Given the description of an element on the screen output the (x, y) to click on. 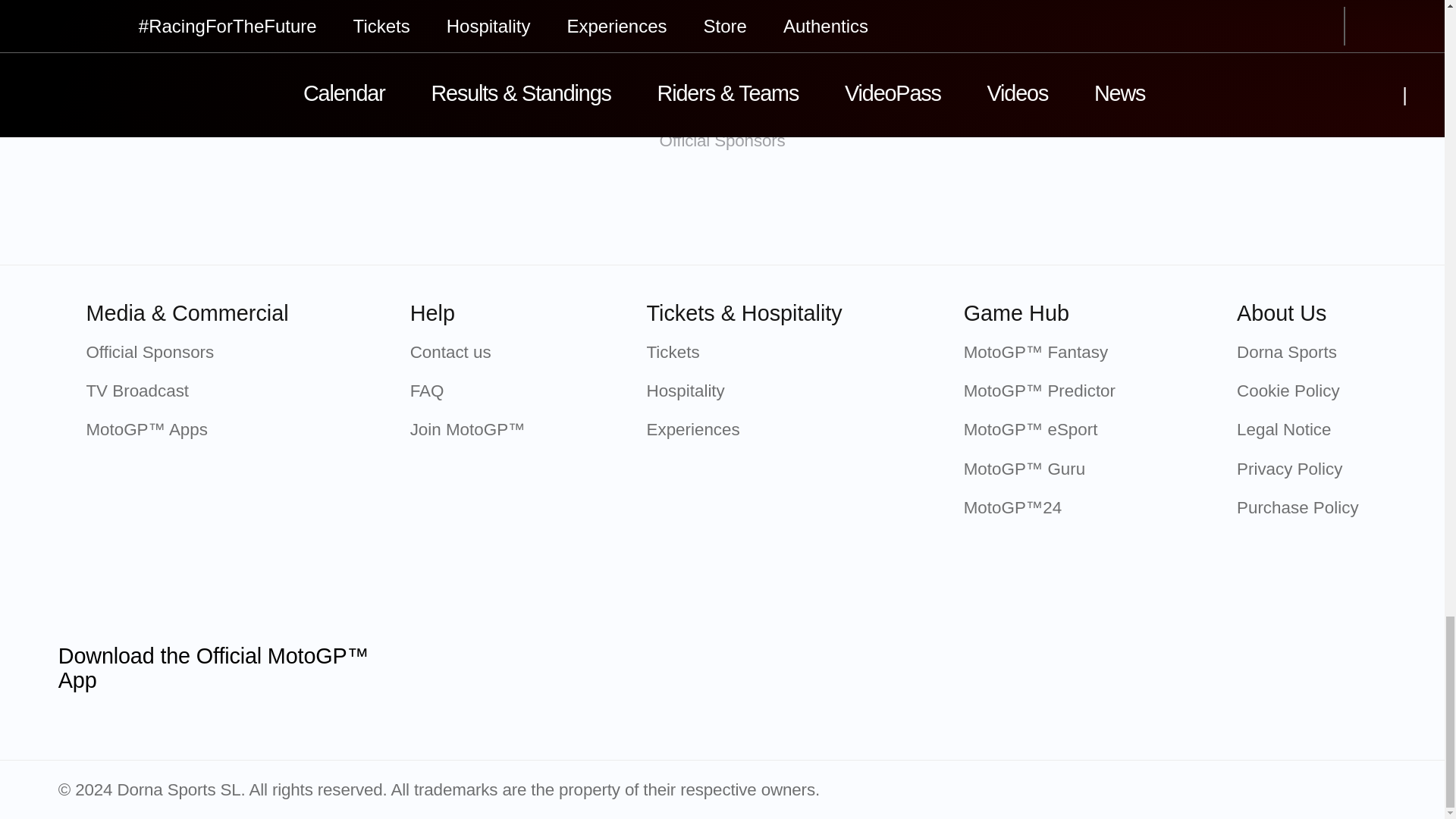
QATAR (321, 211)
MICHELIN (642, 211)
ESTRELLA GALICIA (962, 211)
BMW M (802, 211)
App Store (465, 667)
TISSOT (481, 211)
DHL (1122, 211)
Play Store (620, 667)
